Given the description of an element on the screen output the (x, y) to click on. 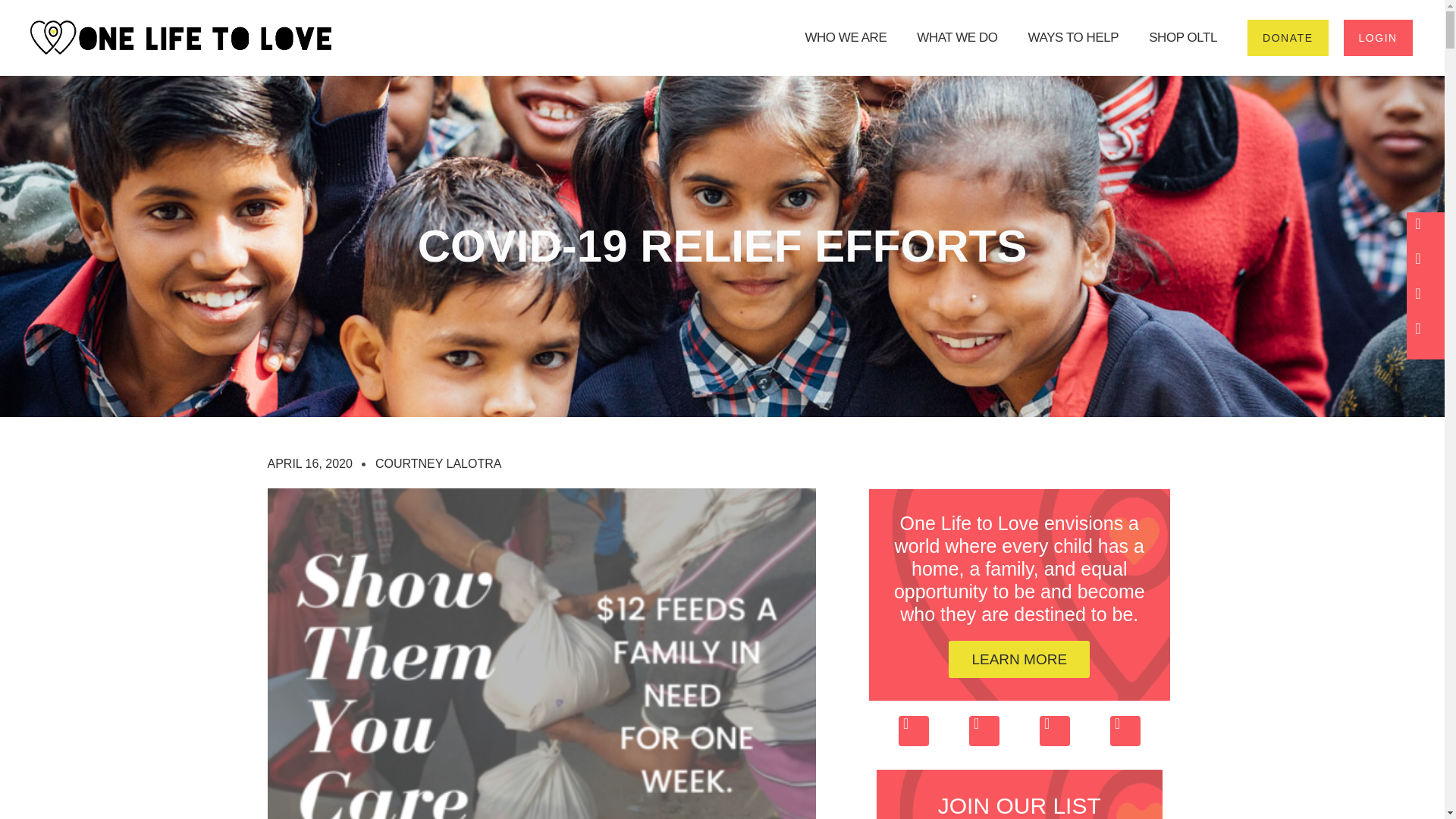
LOGIN (1377, 37)
DONATE (1287, 37)
WHO WE ARE (845, 37)
SHOP OLTL (1182, 37)
WHAT WE DO (957, 37)
WAYS TO HELP (1073, 37)
